Given the description of an element on the screen output the (x, y) to click on. 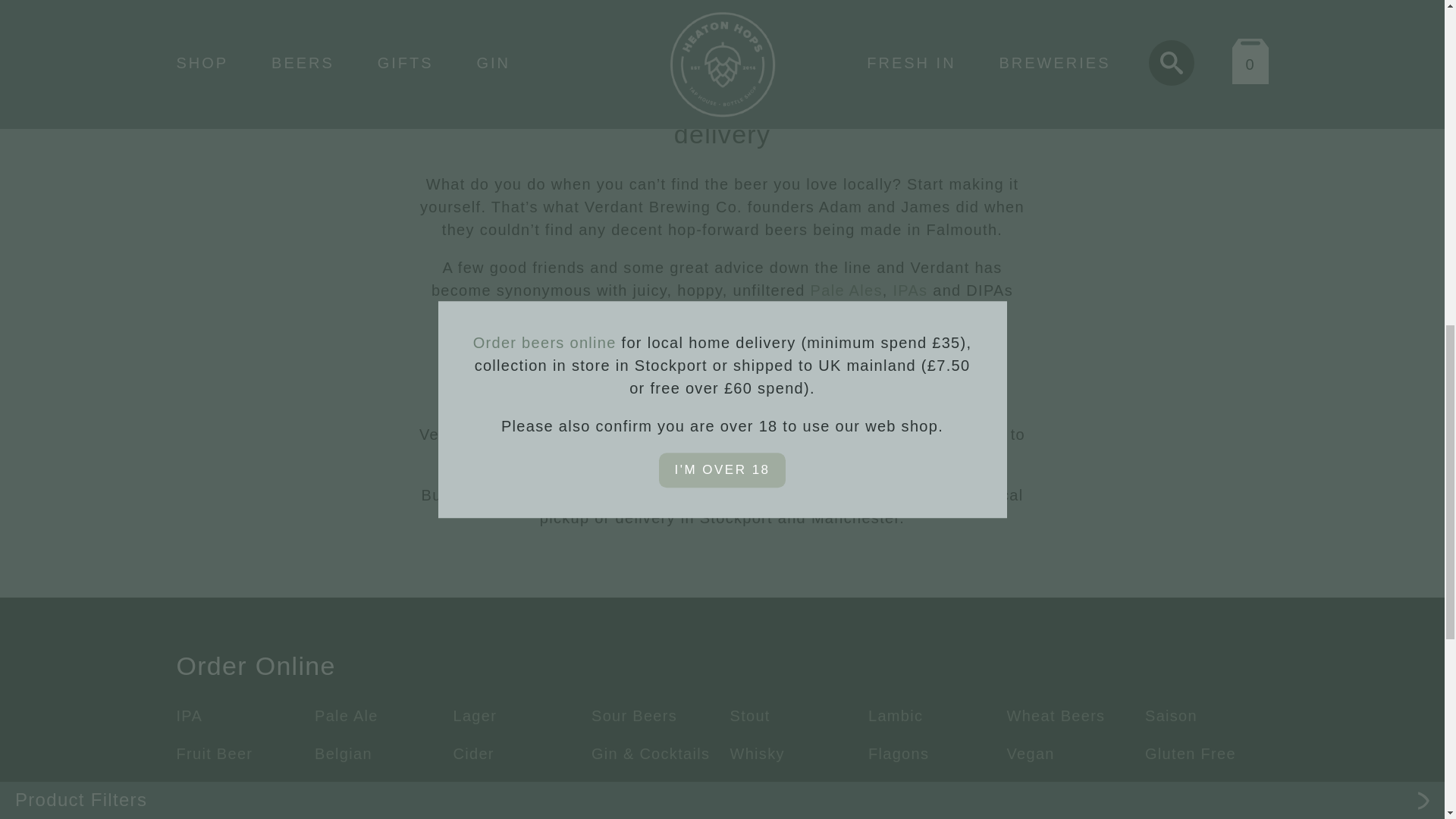
Fruit Beer (213, 753)
Whisky (756, 753)
Pale Ales (846, 289)
Sour Beers (634, 715)
Cider (473, 753)
Saison (1170, 715)
ADD TO BASKET (1067, 17)
IPAs (909, 289)
Pale Ale (346, 715)
Belgian (343, 753)
